Given the description of an element on the screen output the (x, y) to click on. 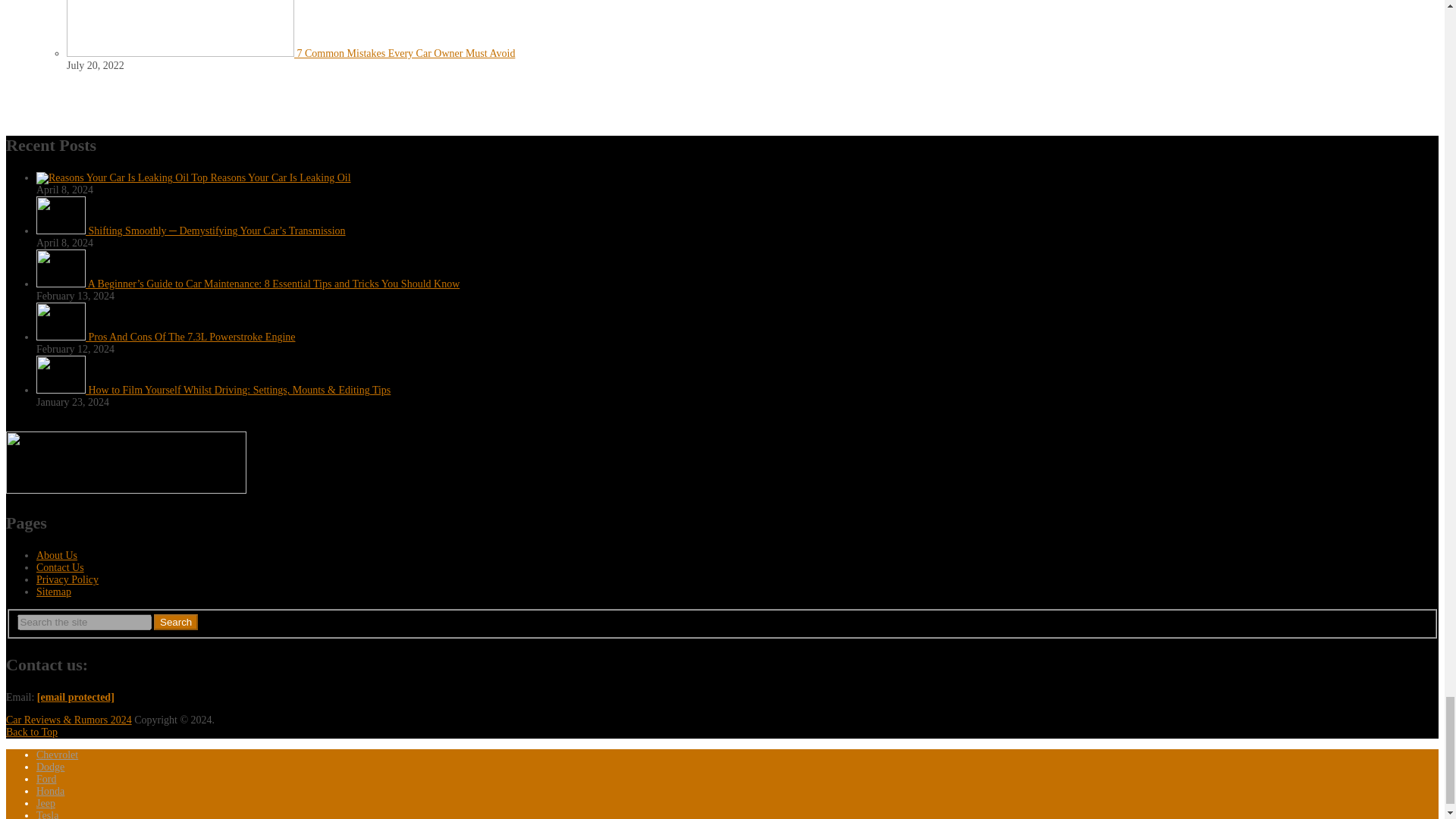
Search (176, 621)
